Given the description of an element on the screen output the (x, y) to click on. 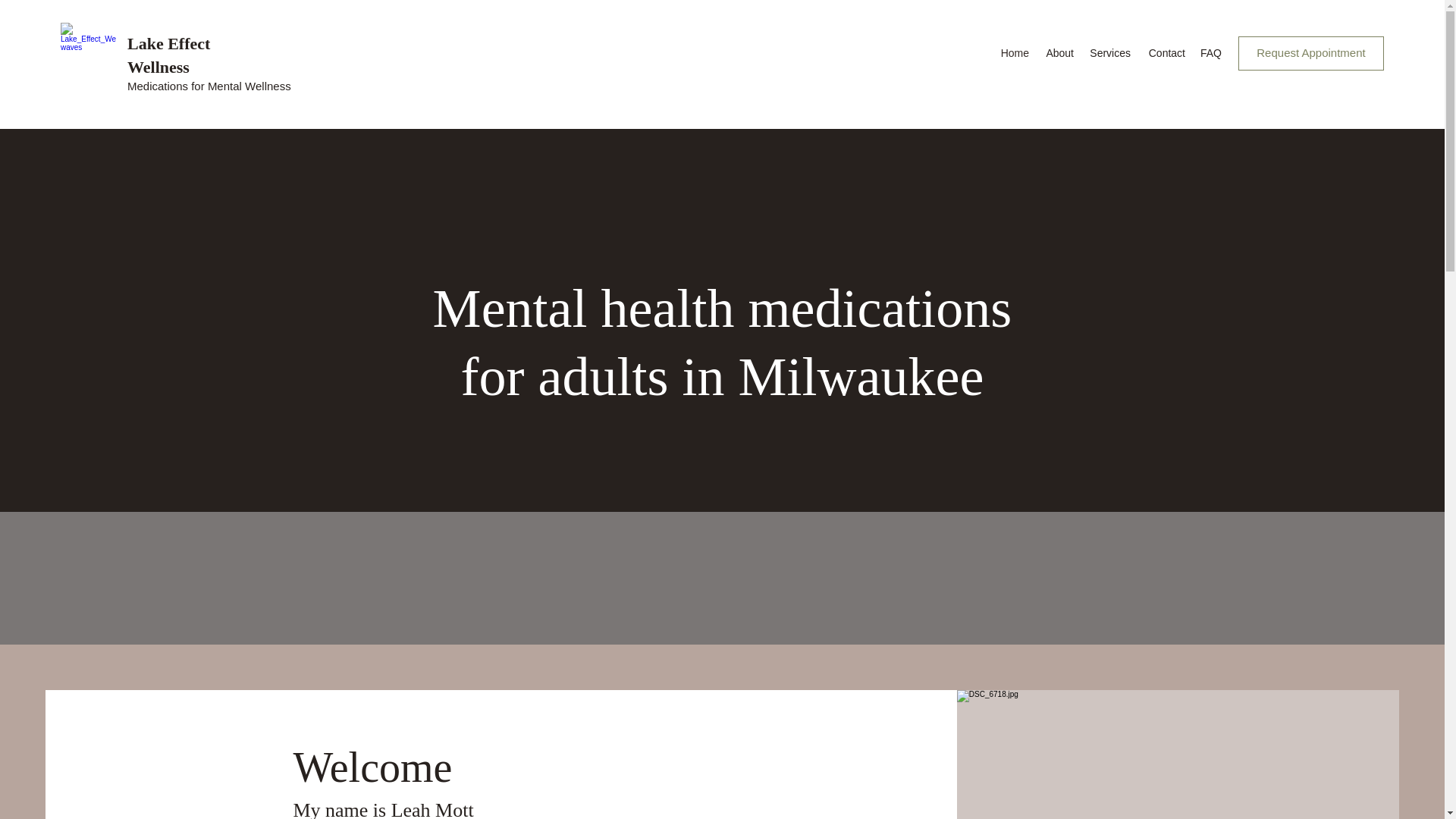
Services (1109, 52)
Request Appointment (1311, 53)
FAQ (1209, 52)
Contact (1165, 52)
Home (1013, 52)
About (1058, 52)
